Given the description of an element on the screen output the (x, y) to click on. 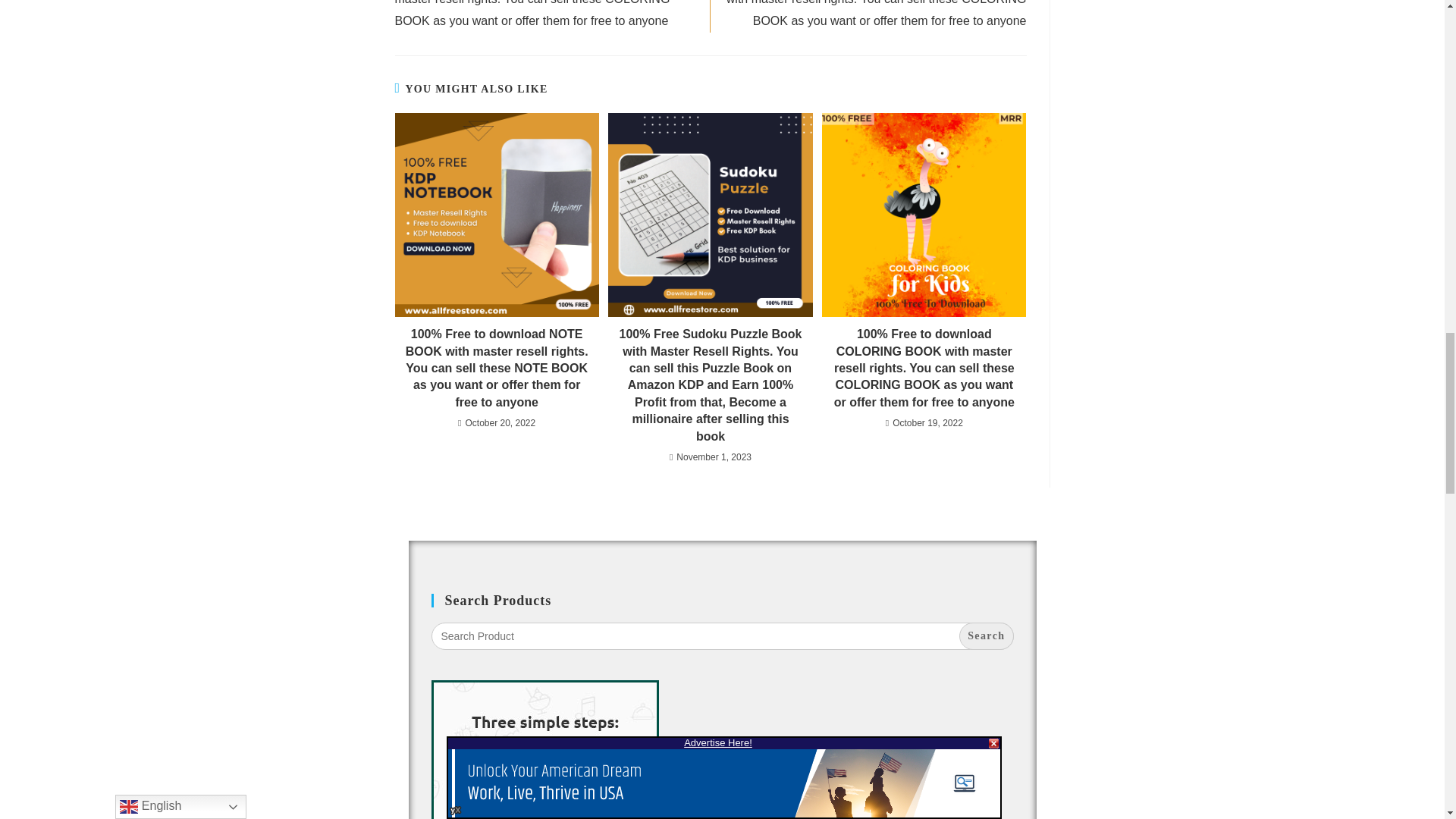
Search (986, 636)
Search (986, 636)
